Given the description of an element on the screen output the (x, y) to click on. 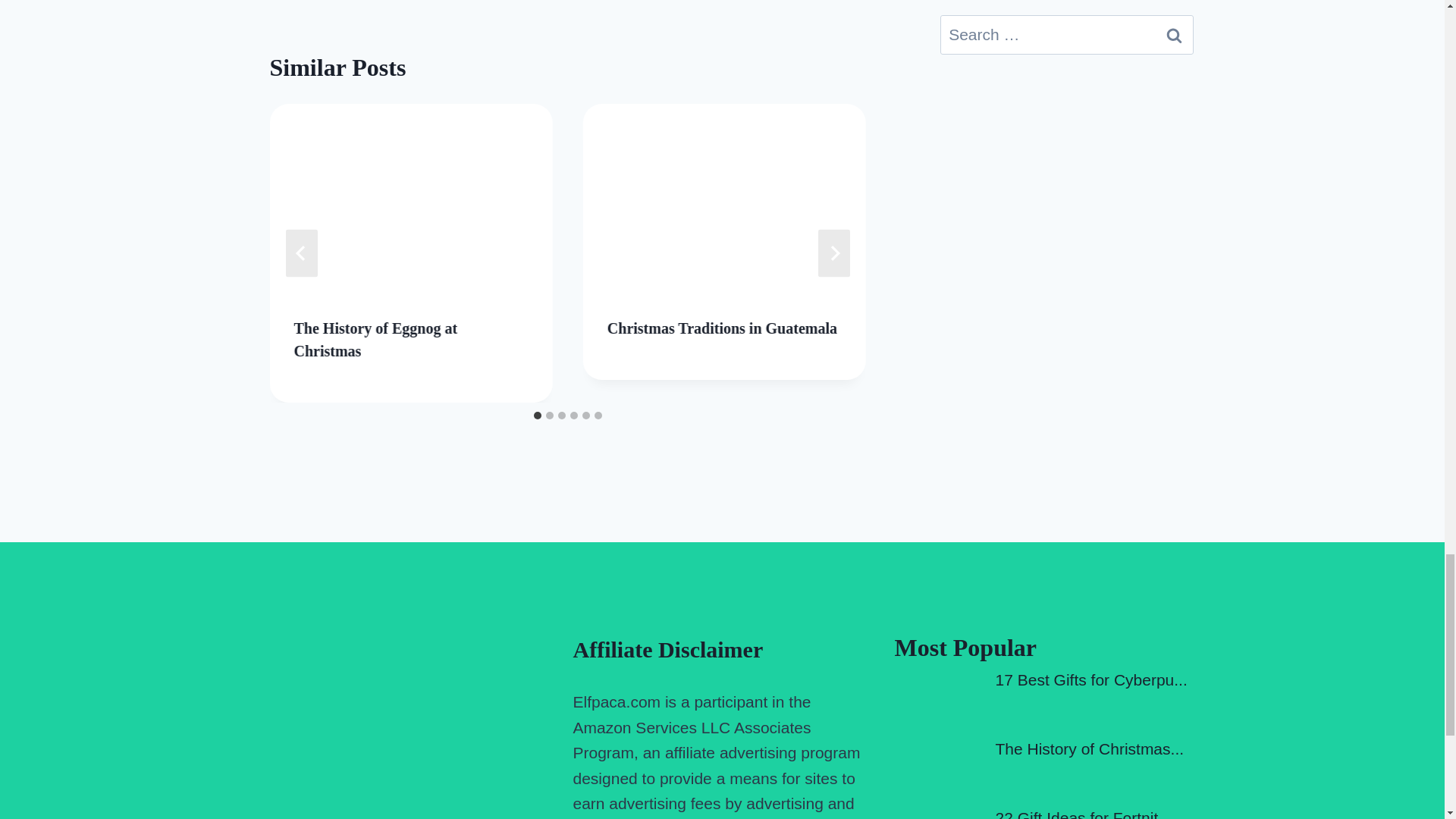
22 Gift Ideas for Fortnite Fans (1082, 814)
Christmas Traditions in Guatemala (722, 328)
The History of Christmas Candles (1088, 748)
The History of Eggnog at Christmas (376, 339)
17 Best Gifts for Cyberpunk Fans (1090, 679)
